Given the description of an element on the screen output the (x, y) to click on. 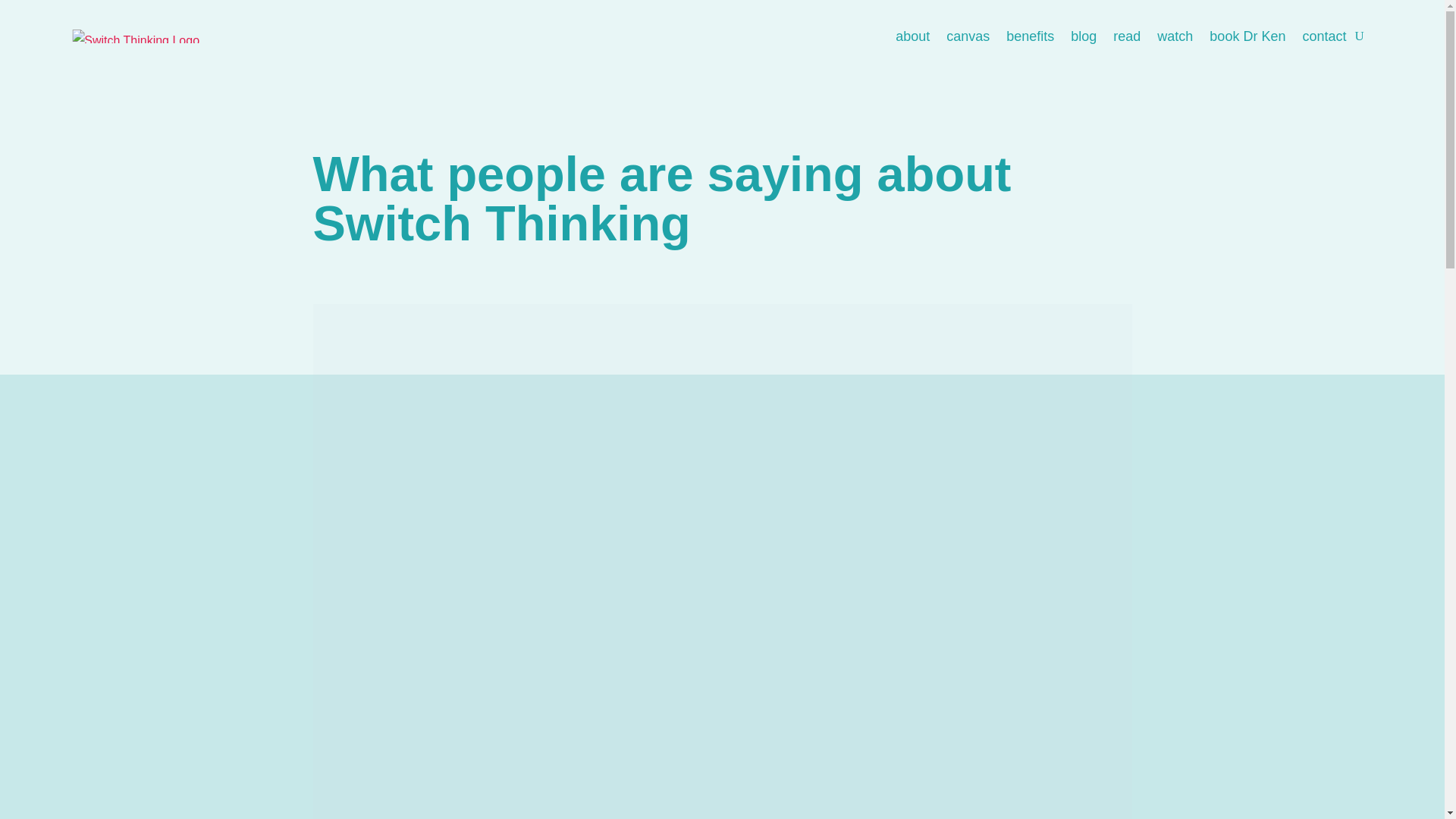
book Dr Ken (1247, 36)
